Given the description of an element on the screen output the (x, y) to click on. 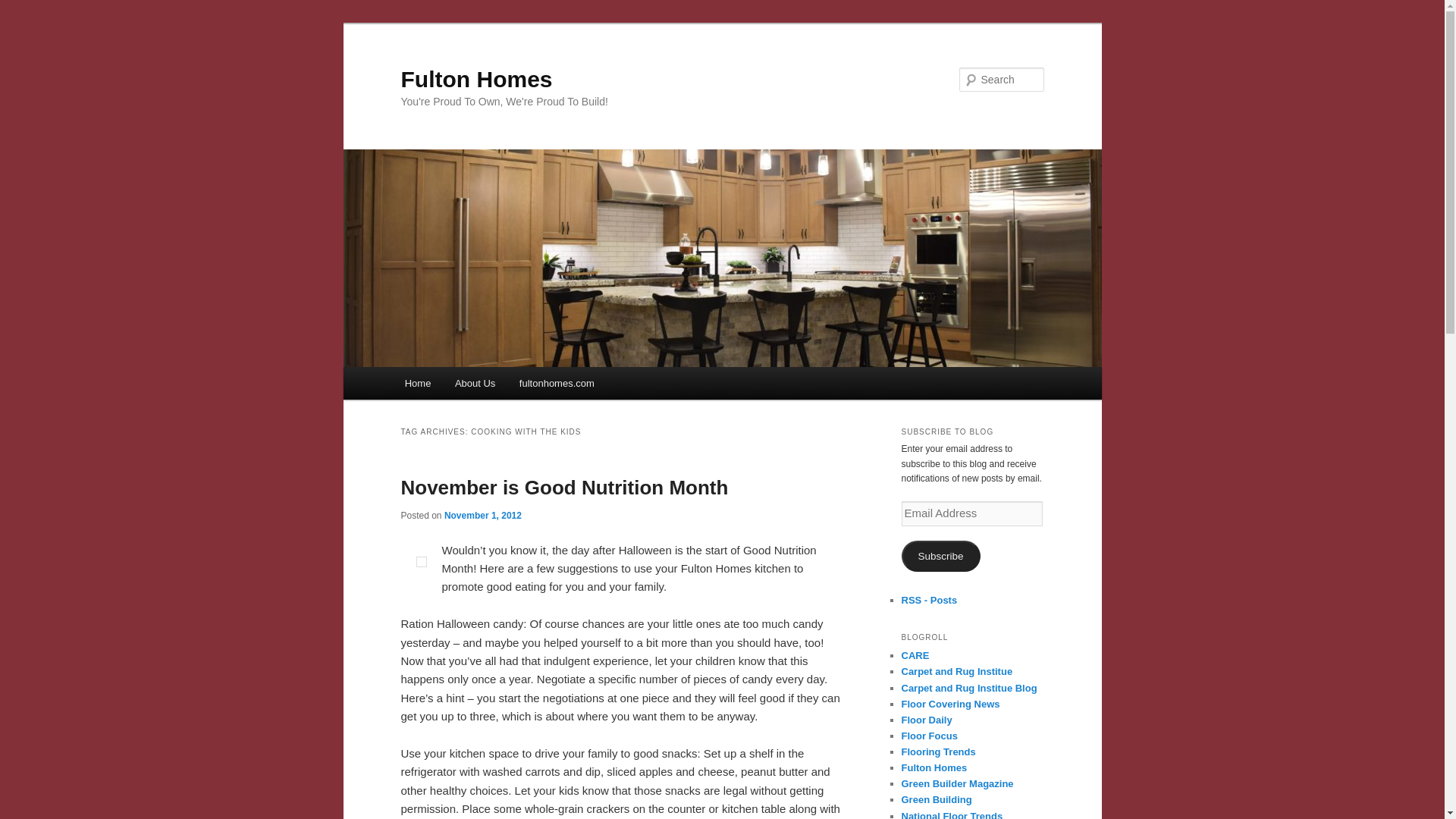
fultonhomes.com (556, 382)
Search (24, 8)
2:30 pm (482, 515)
About Us (474, 382)
November 1, 2012 (482, 515)
Home (417, 382)
Carpet and Rug Institue Blog (968, 687)
Carpet and Rug Institue (956, 671)
Subscribe to posts (928, 600)
Fulton Homes (475, 78)
